Given the description of an element on the screen output the (x, y) to click on. 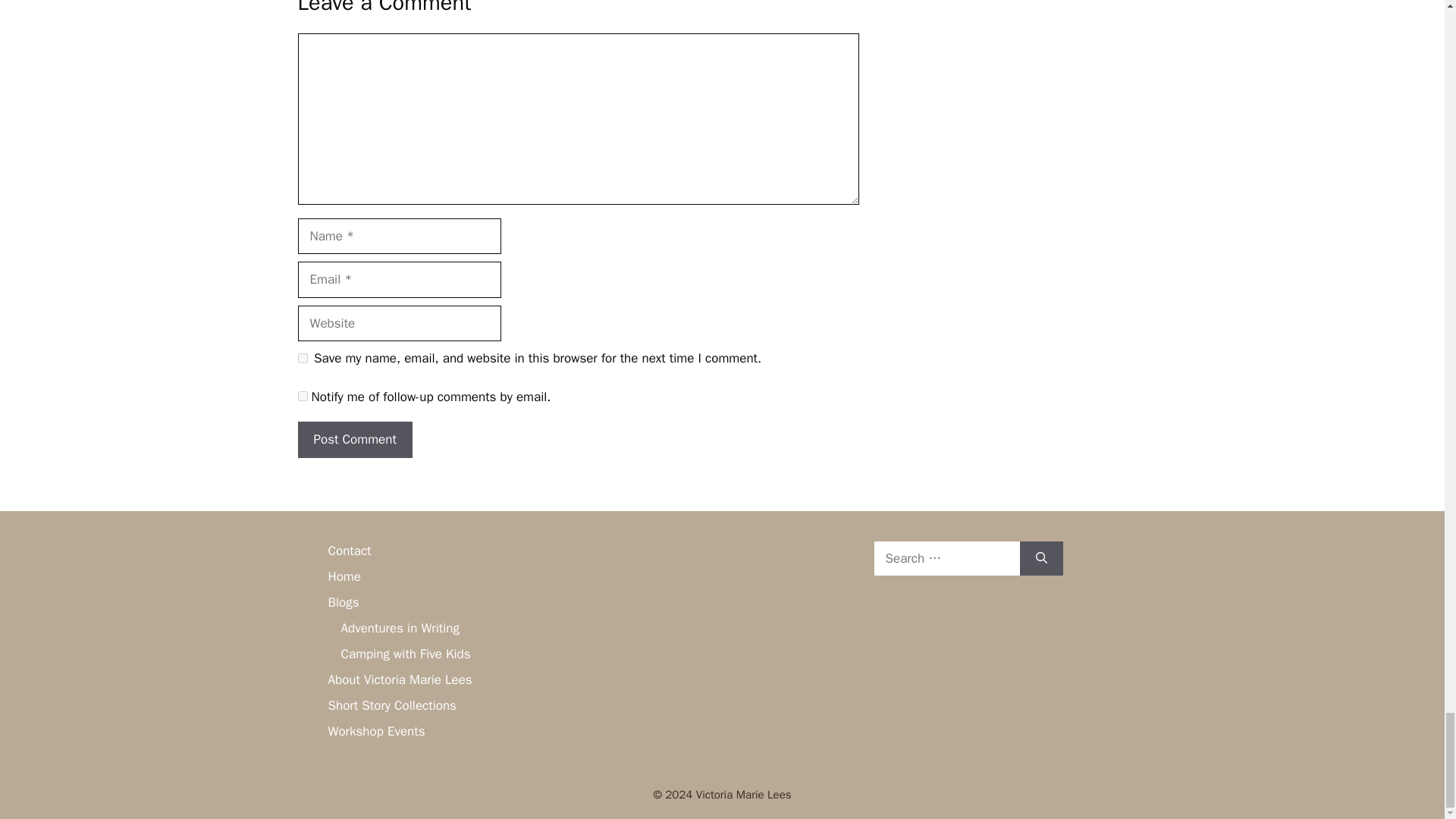
subscribe (302, 396)
Search for: (946, 558)
yes (302, 357)
Post Comment (354, 439)
